Given the description of an element on the screen output the (x, y) to click on. 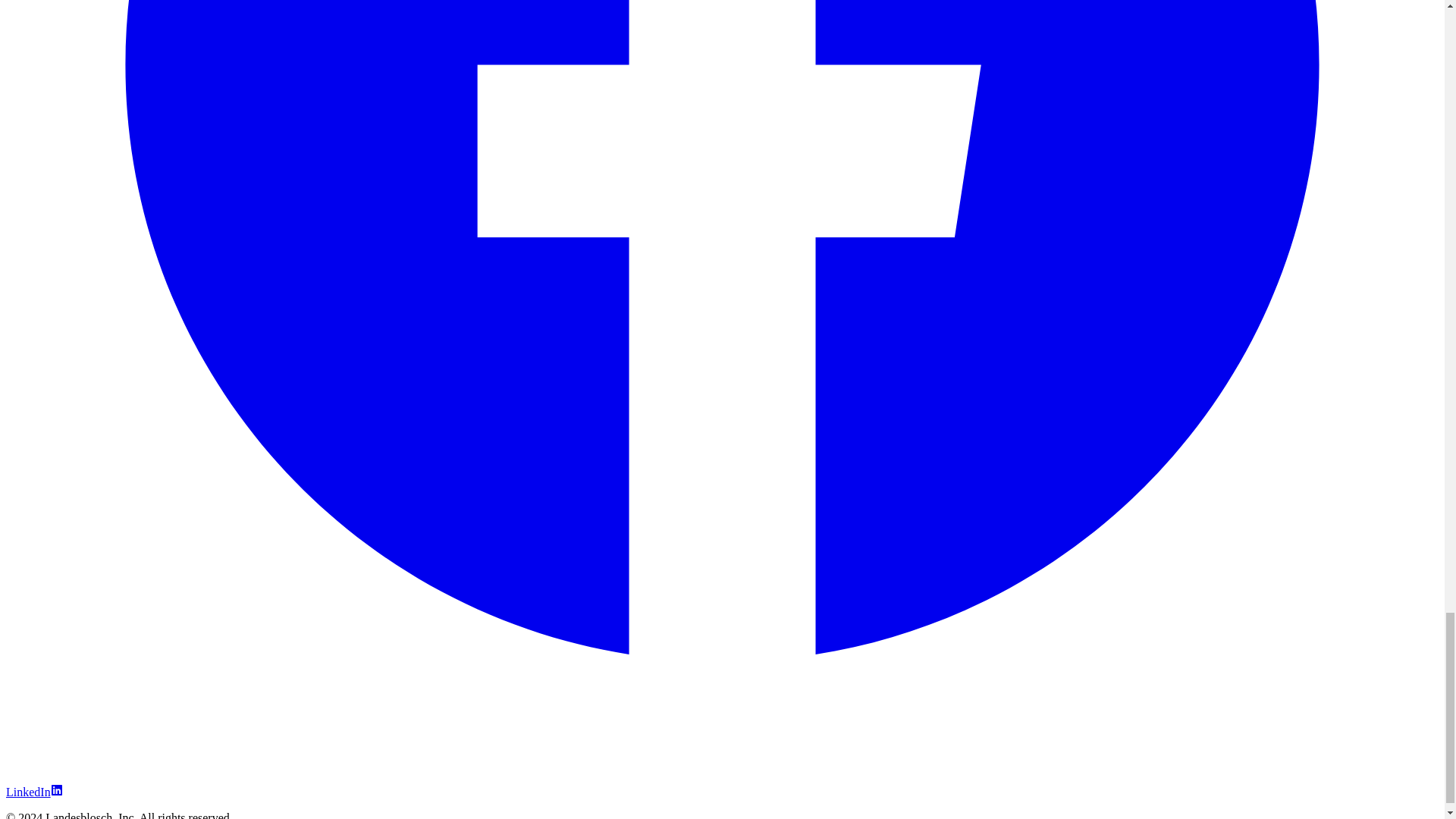
LinkedIn (33, 791)
